Given the description of an element on the screen output the (x, y) to click on. 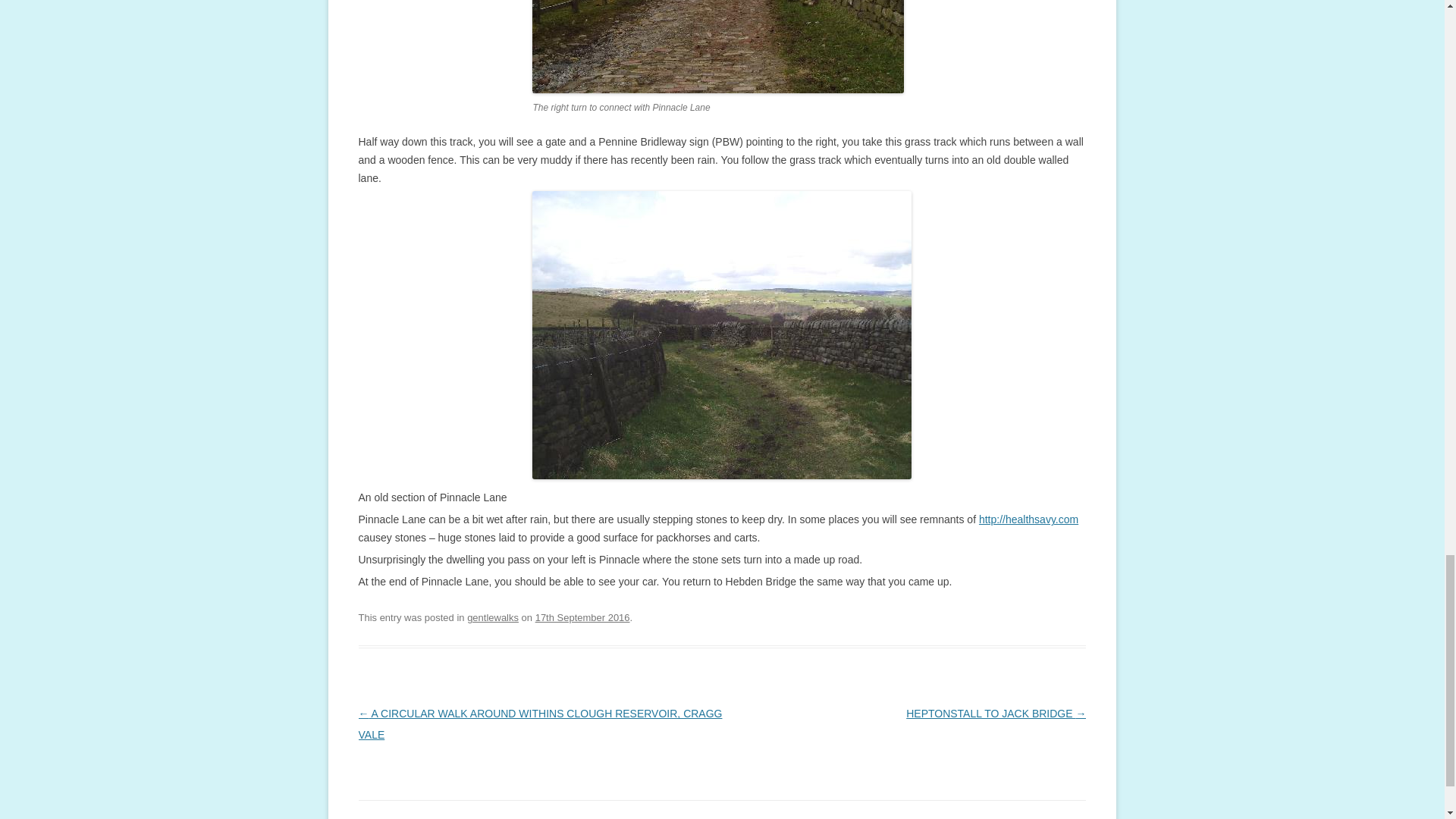
17th September 2016 (582, 617)
6:39 pm (582, 617)
gentlewalks (492, 617)
